Given the description of an element on the screen output the (x, y) to click on. 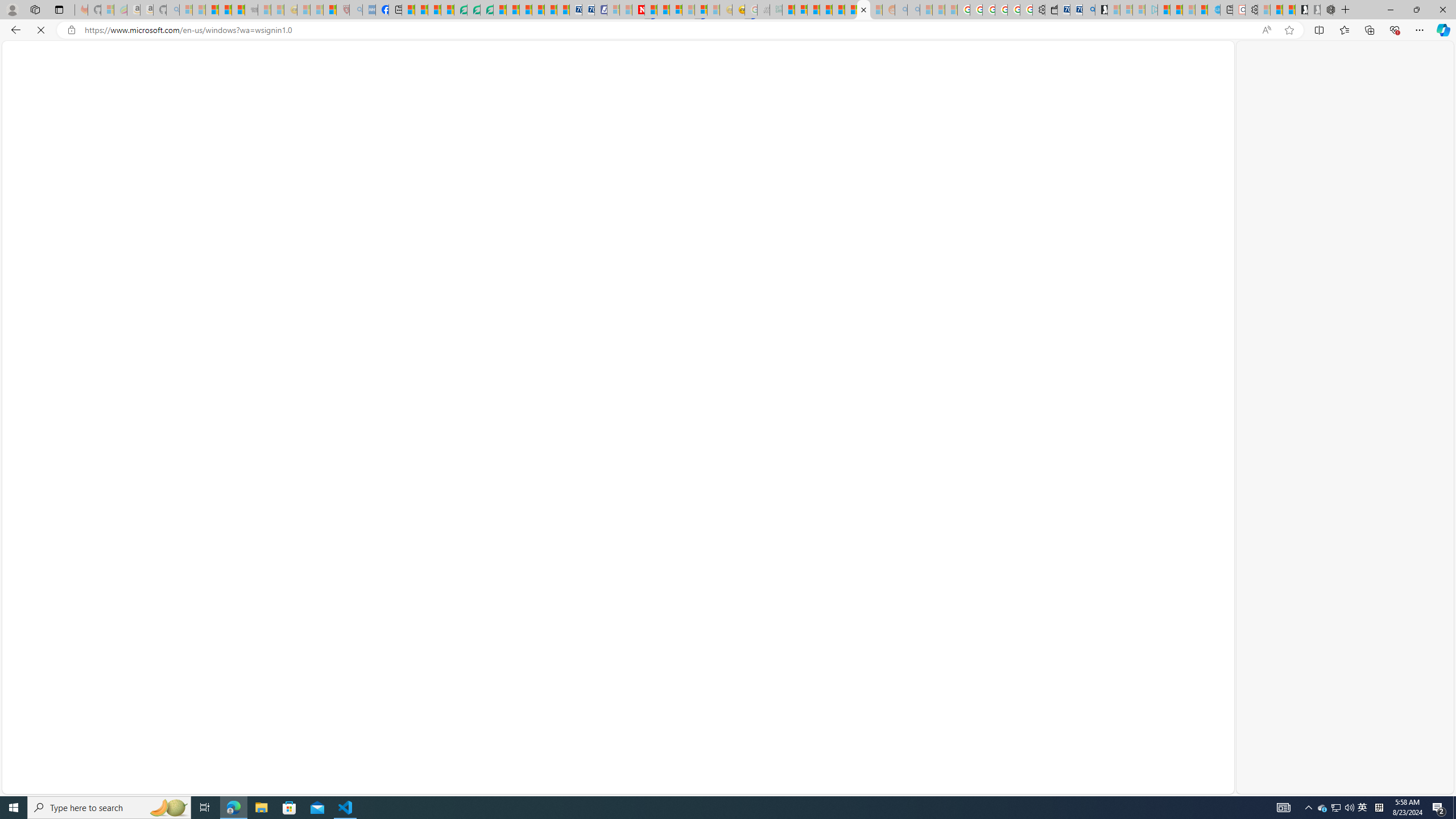
Wallet (1050, 9)
